Given the description of an element on the screen output the (x, y) to click on. 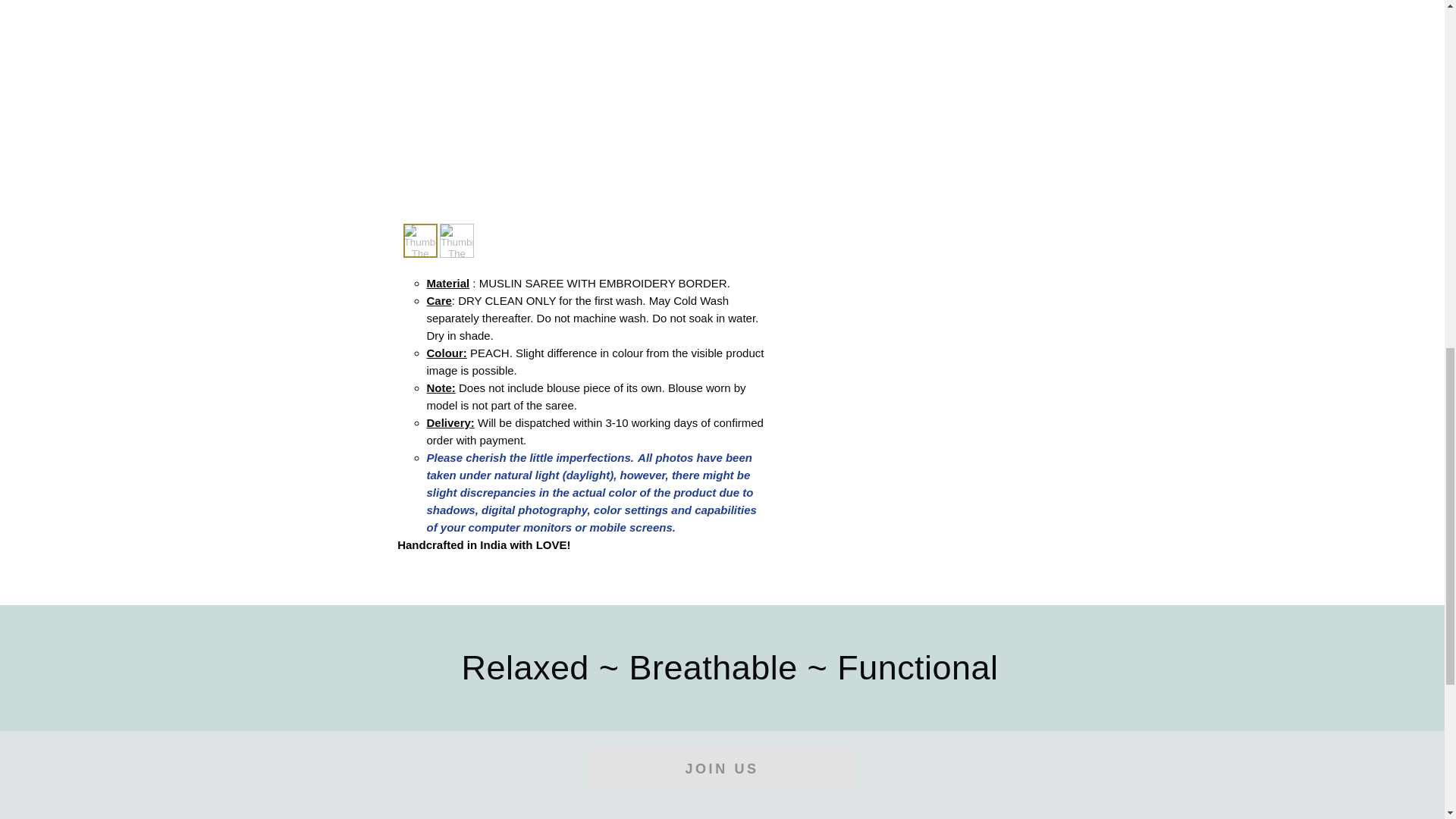
JOIN US (721, 768)
